Given the description of an element on the screen output the (x, y) to click on. 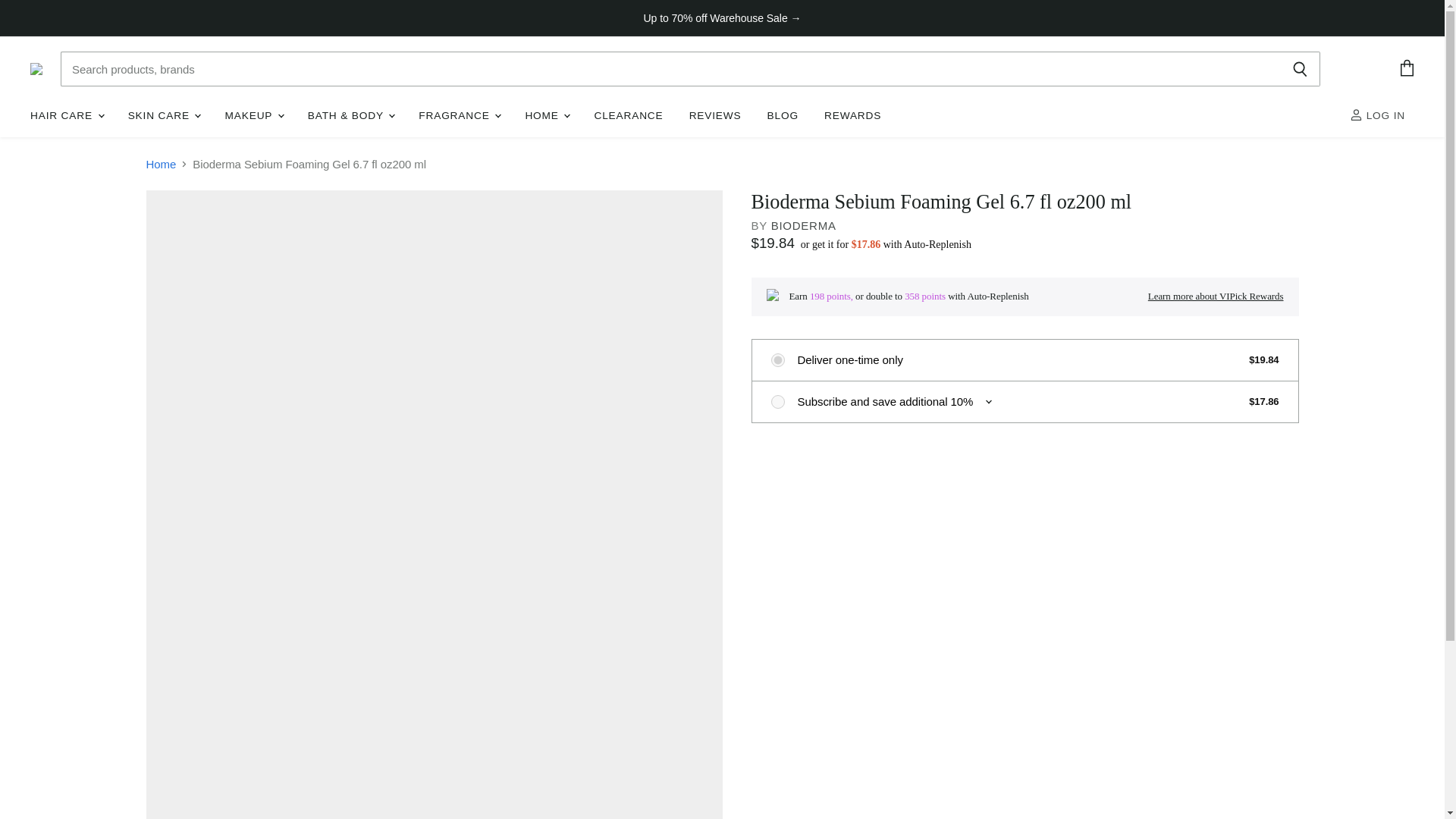
SKIN CARE (163, 115)
on (777, 400)
HAIR CARE (65, 115)
on (777, 359)
ACCOUNT ICON (1355, 114)
Bioderma (803, 225)
